Given the description of an element on the screen output the (x, y) to click on. 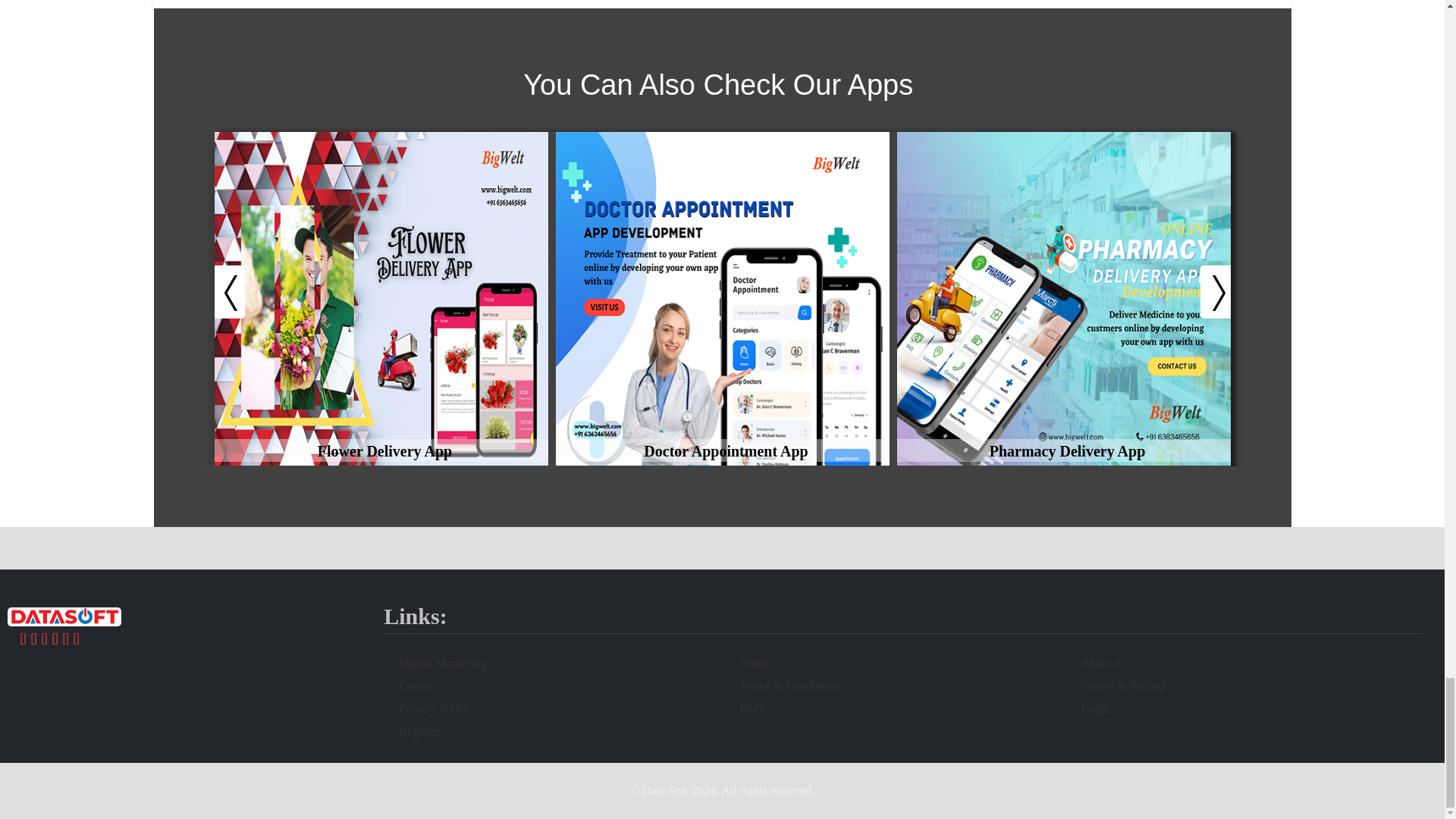
salon app development company (721, 298)
pharmacy app development company (1063, 298)
doctor apointment app development company (380, 298)
